Given the description of an element on the screen output the (x, y) to click on. 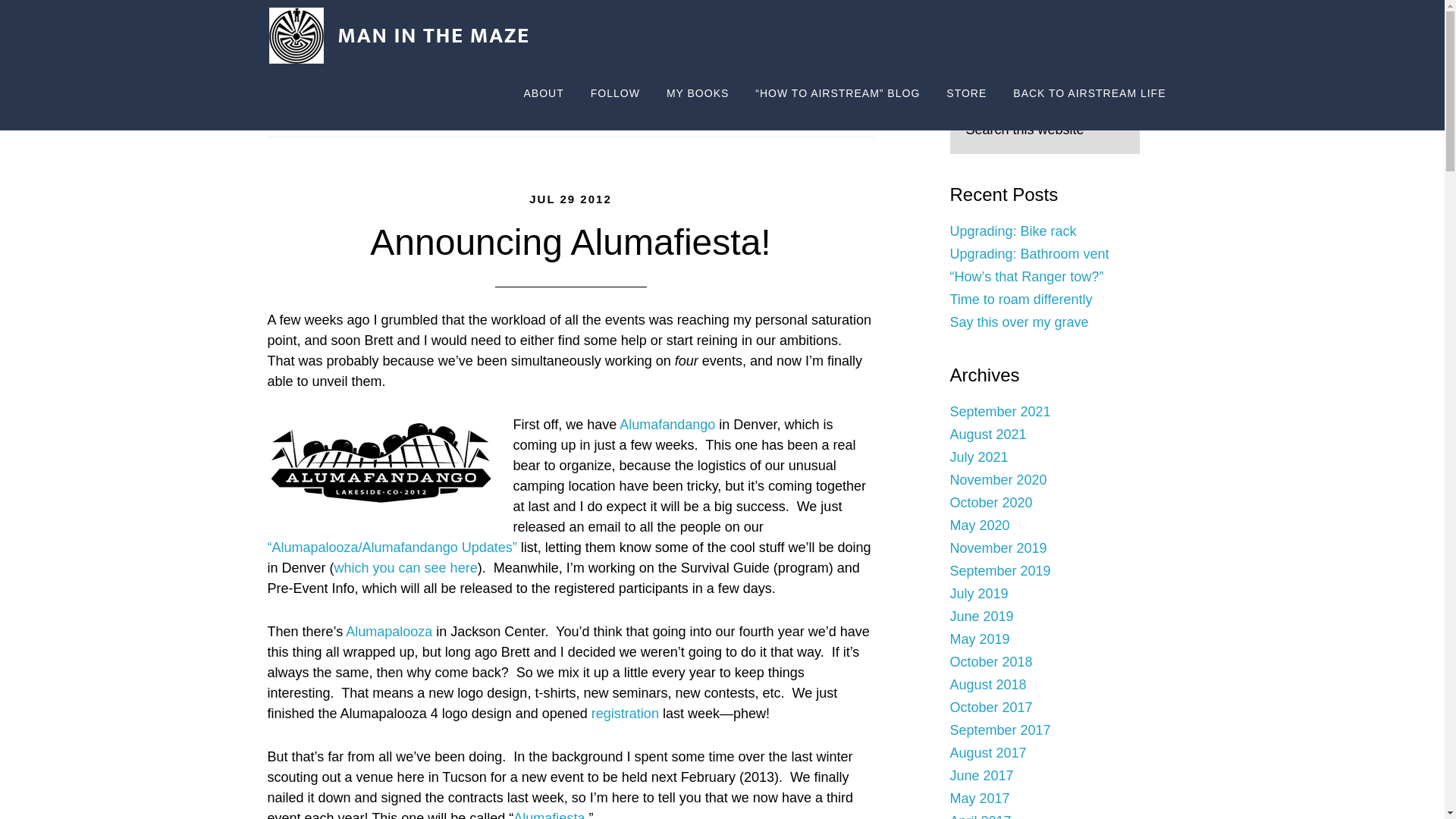
Time to roam differently (1020, 299)
MAN IN THE MAZE (403, 36)
Upgrading: Bathroom vent (1028, 253)
FOLLOW (614, 93)
Upgrading: Bike rack (1012, 231)
Home (381, 117)
Alumafiesta (549, 814)
ABOUT (543, 93)
